Given the description of an element on the screen output the (x, y) to click on. 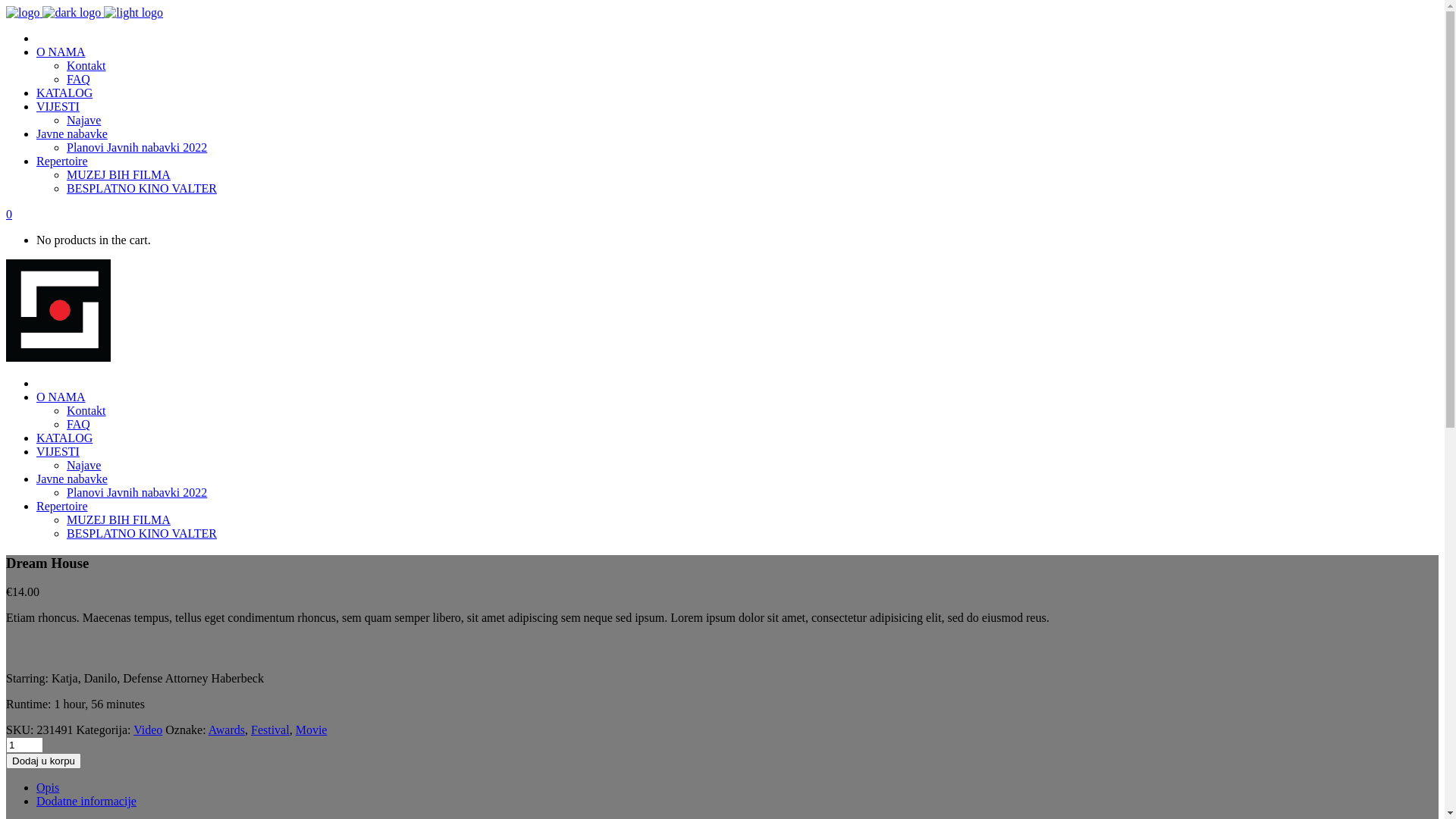
Najave Element type: text (83, 464)
KATALOG Element type: text (64, 92)
Kontakt Element type: text (86, 410)
Opis Element type: text (47, 787)
Javne nabavke Element type: text (71, 133)
Planovi Javnih nabavki 2022 Element type: text (136, 147)
0 Element type: text (9, 213)
FAQ Element type: text (78, 423)
Dodatne informacije Element type: text (86, 800)
KATALOG Element type: text (64, 437)
Kontakt Element type: text (86, 65)
Movie Element type: text (311, 729)
O NAMA Element type: text (60, 51)
Repertoire Element type: text (61, 160)
Festival Element type: text (270, 729)
VIJESTI Element type: text (57, 451)
Javne nabavke Element type: text (71, 478)
MUZEJ BIH FILMA Element type: text (118, 174)
BESPLATNO KINO VALTER Element type: text (141, 188)
Planovi Javnih nabavki 2022 Element type: text (136, 492)
Awards Element type: text (226, 729)
BESPLATNO KINO VALTER Element type: text (141, 533)
O NAMA Element type: text (60, 396)
FAQ Element type: text (78, 78)
MUZEJ BIH FILMA Element type: text (118, 519)
Dodaj u korpu Element type: text (43, 760)
Repertoire Element type: text (61, 505)
VIJESTI Element type: text (57, 106)
Video Element type: text (147, 729)
Najave Element type: text (83, 119)
